Given the description of an element on the screen output the (x, y) to click on. 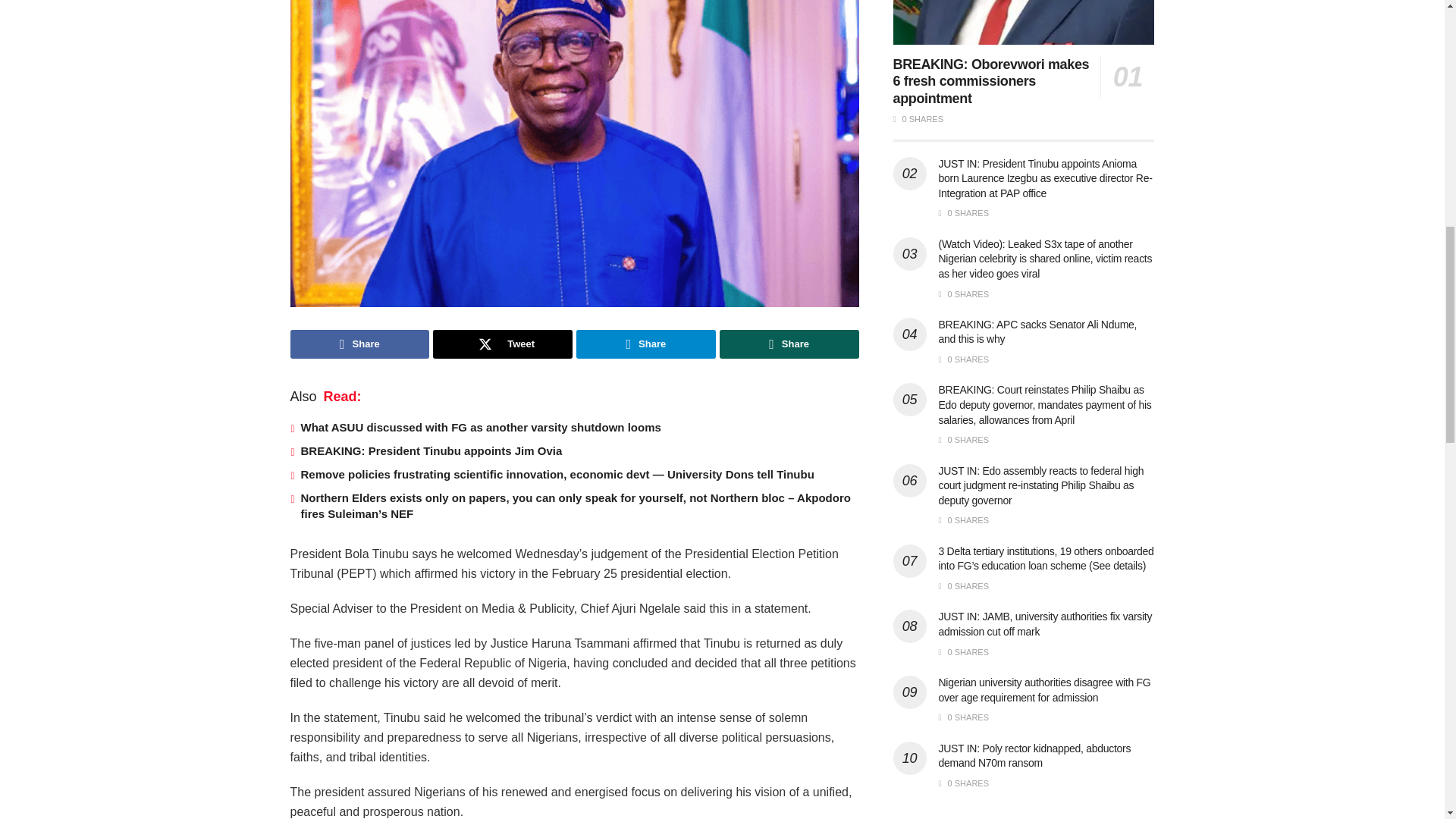
Share (359, 344)
Tweet (502, 344)
Share (789, 344)
Share (646, 344)
